Given the description of an element on the screen output the (x, y) to click on. 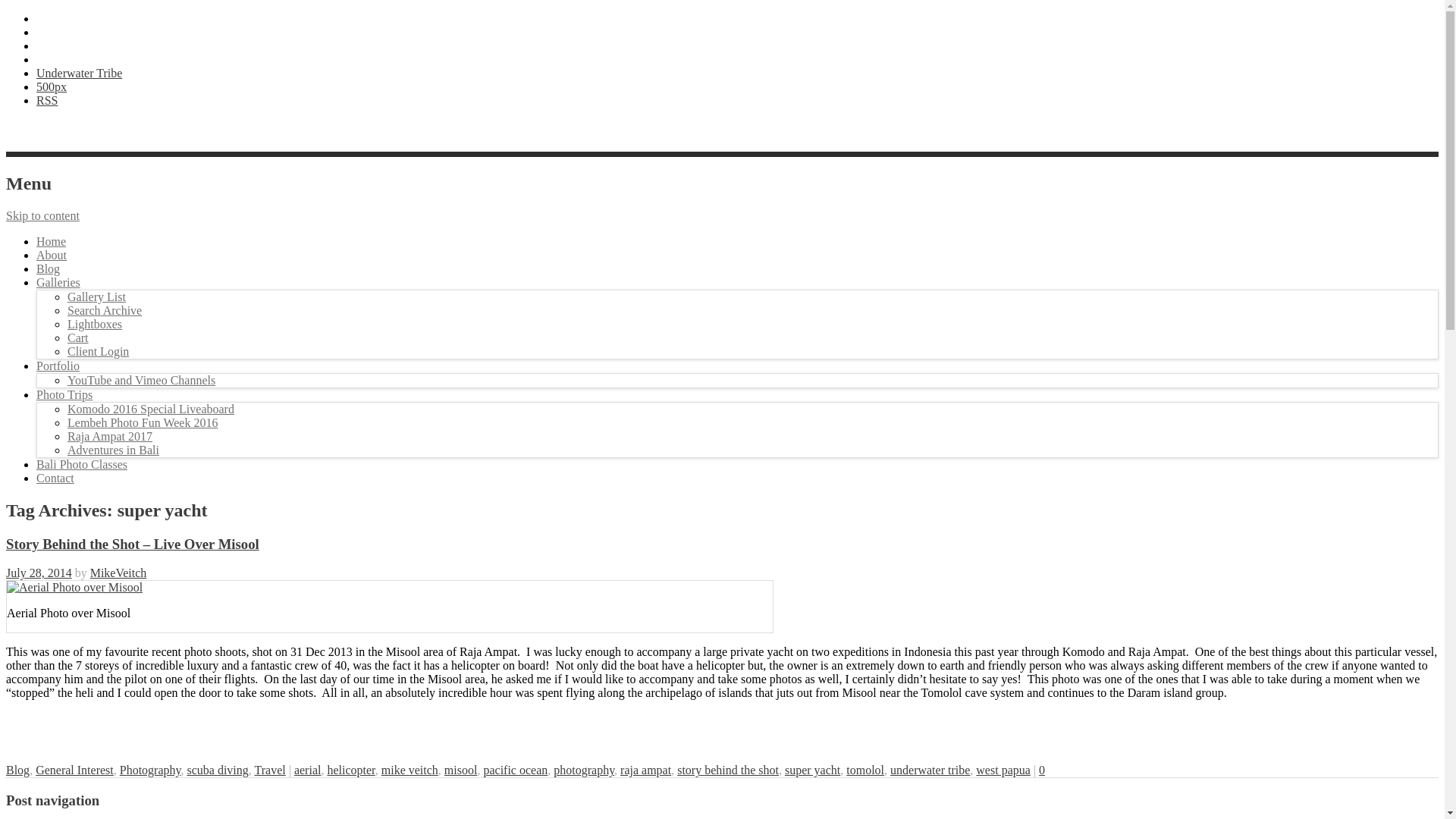
Mike Veitch, Underwater Tribe, Bali Photography Classes (51, 254)
scuba diving (216, 769)
mike veitch (409, 769)
misool (460, 769)
MikeVeitch (118, 572)
Adventures in Bali (112, 449)
Komodo 2016 Special Liveaboard (150, 408)
Lembeh Photo Fun Week 2016 (141, 422)
View all posts by MikeVeitch (118, 572)
Bali Photo Classes (82, 463)
